Given the description of an element on the screen output the (x, y) to click on. 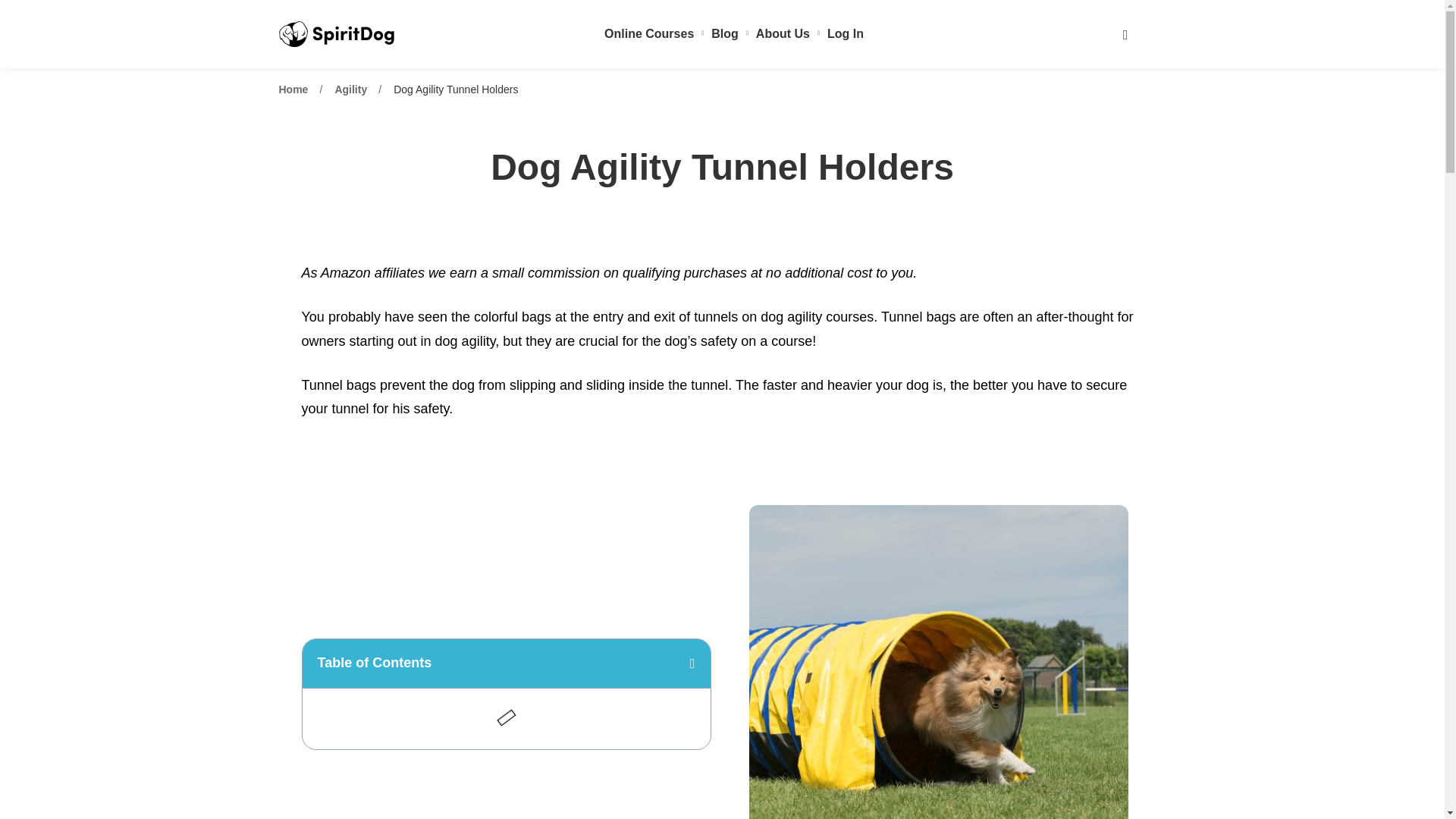
Agility (350, 89)
Online Courses (653, 33)
About Us (787, 33)
Home (293, 89)
